Given the description of an element on the screen output the (x, y) to click on. 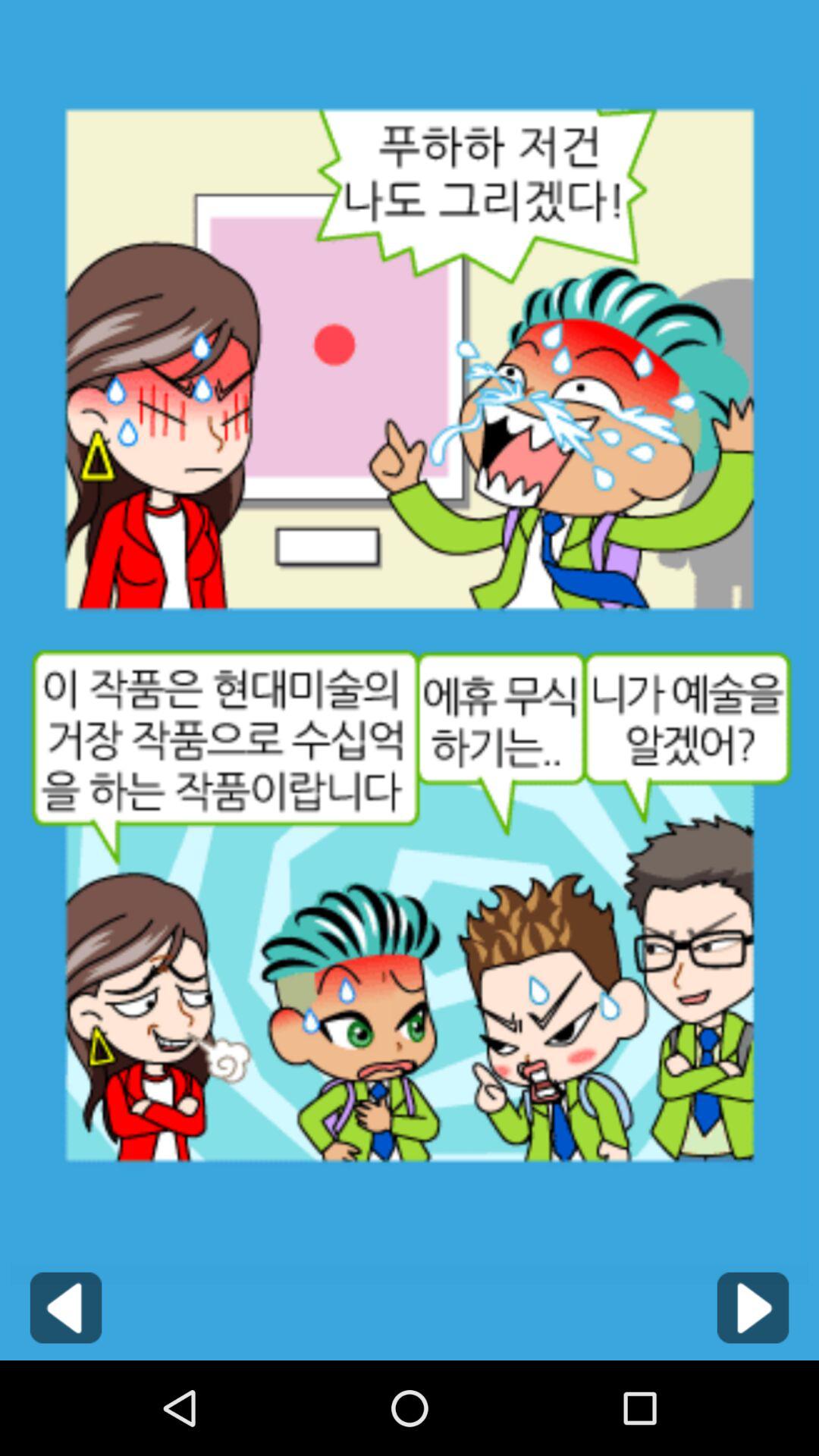
go to next option (752, 1307)
